Given the description of an element on the screen output the (x, y) to click on. 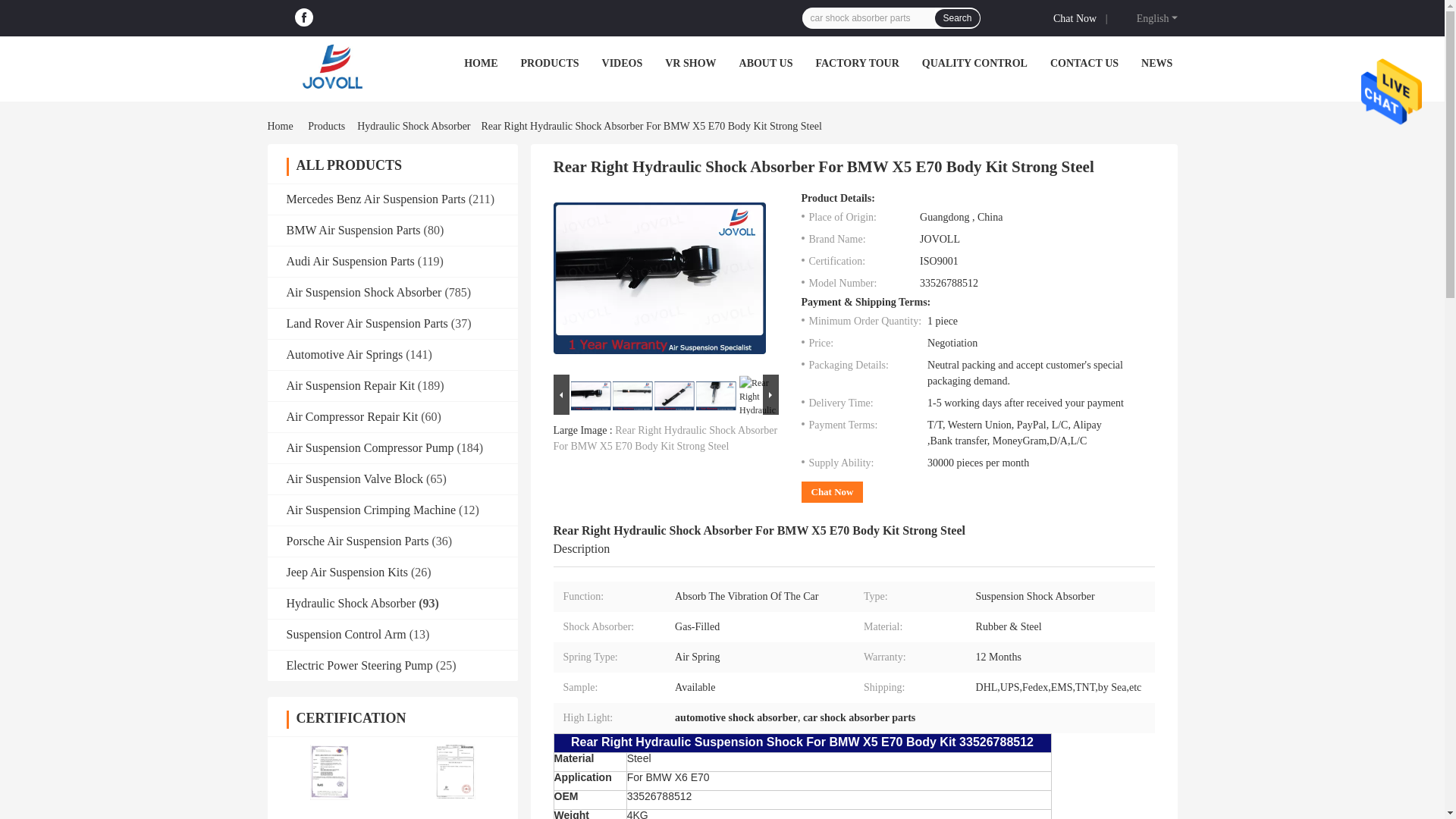
Mercedes Benz Air Suspension Parts (375, 198)
VR SHOW (690, 62)
Products (325, 126)
HOME (480, 62)
PRODUCTS (550, 62)
VIDEOS (622, 62)
CONTACT US (1083, 62)
Search (956, 18)
BMW Air Suspension Parts (353, 229)
QUALITY CONTROL (974, 62)
